Given the description of an element on the screen output the (x, y) to click on. 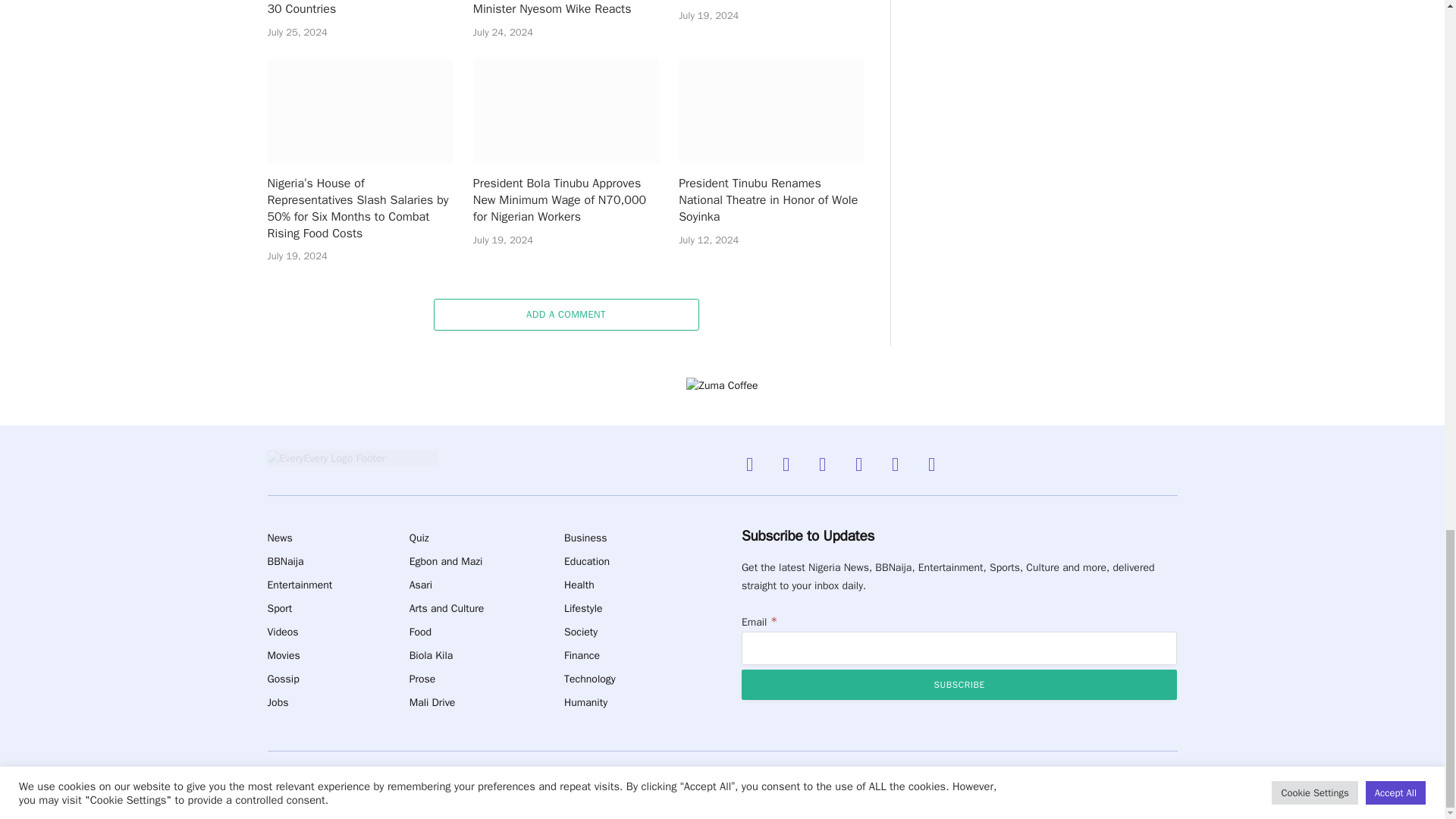
Subscribe (959, 684)
